Given the description of an element on the screen output the (x, y) to click on. 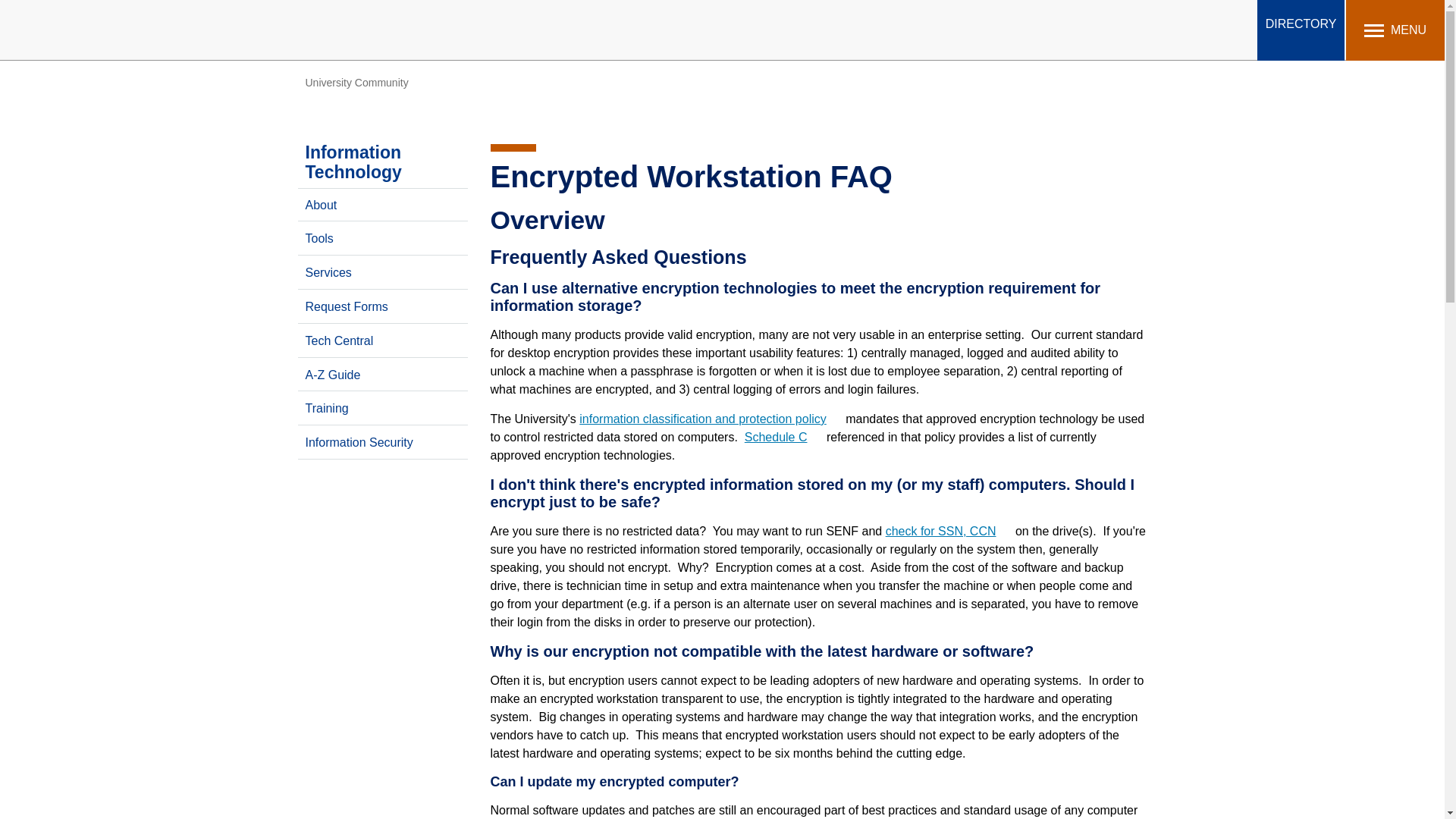
open search (1243, 29)
DIRECTORY (1300, 30)
Submit (502, 19)
